Given the description of an element on the screen output the (x, y) to click on. 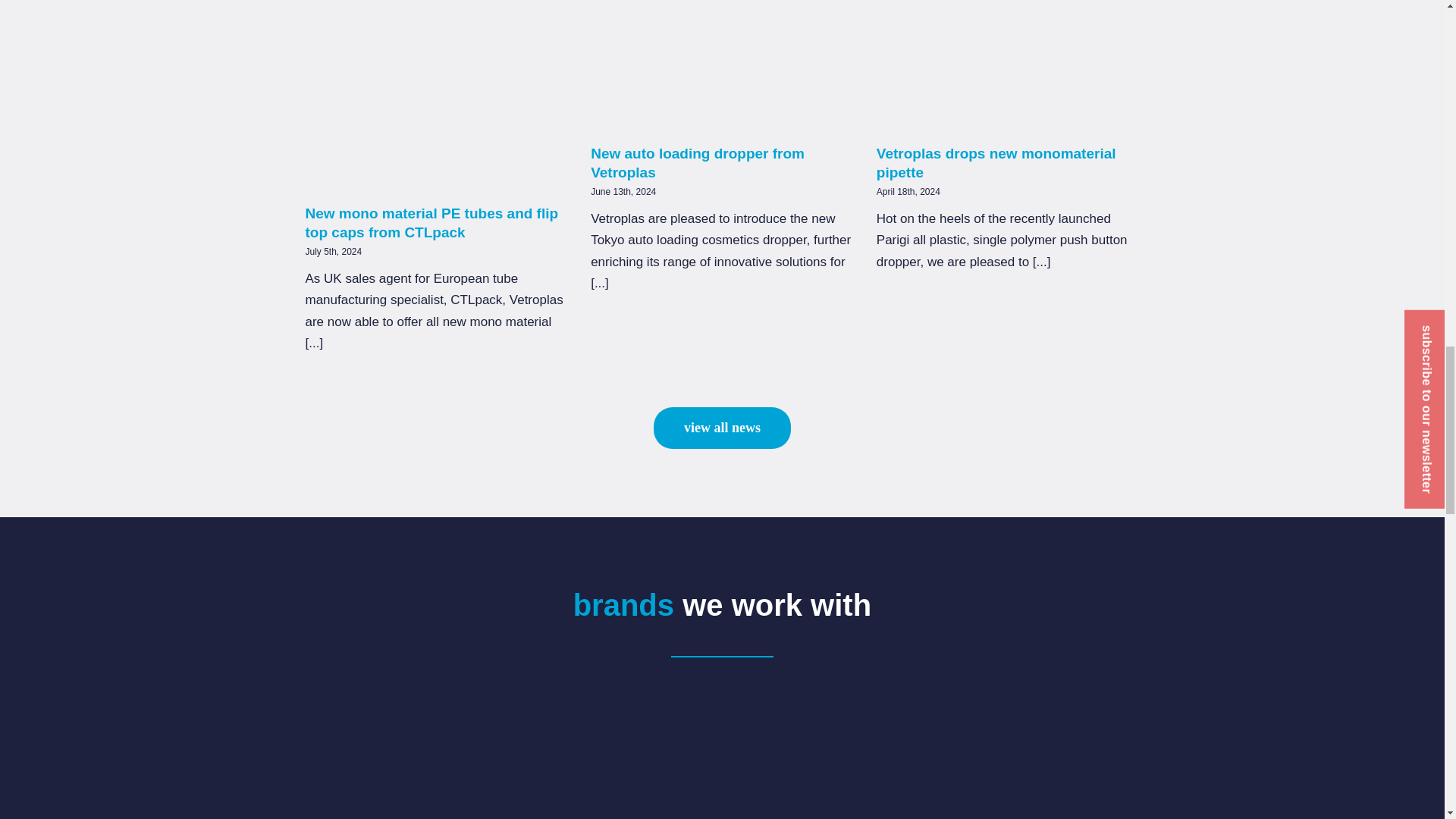
view all news (721, 427)
New auto loading dropper from Vetroplas (698, 162)
New mono material PE tubes and flip top caps from CTLpack (430, 222)
Vetroplas drops new monomaterial pipette (996, 162)
